Given the description of an element on the screen output the (x, y) to click on. 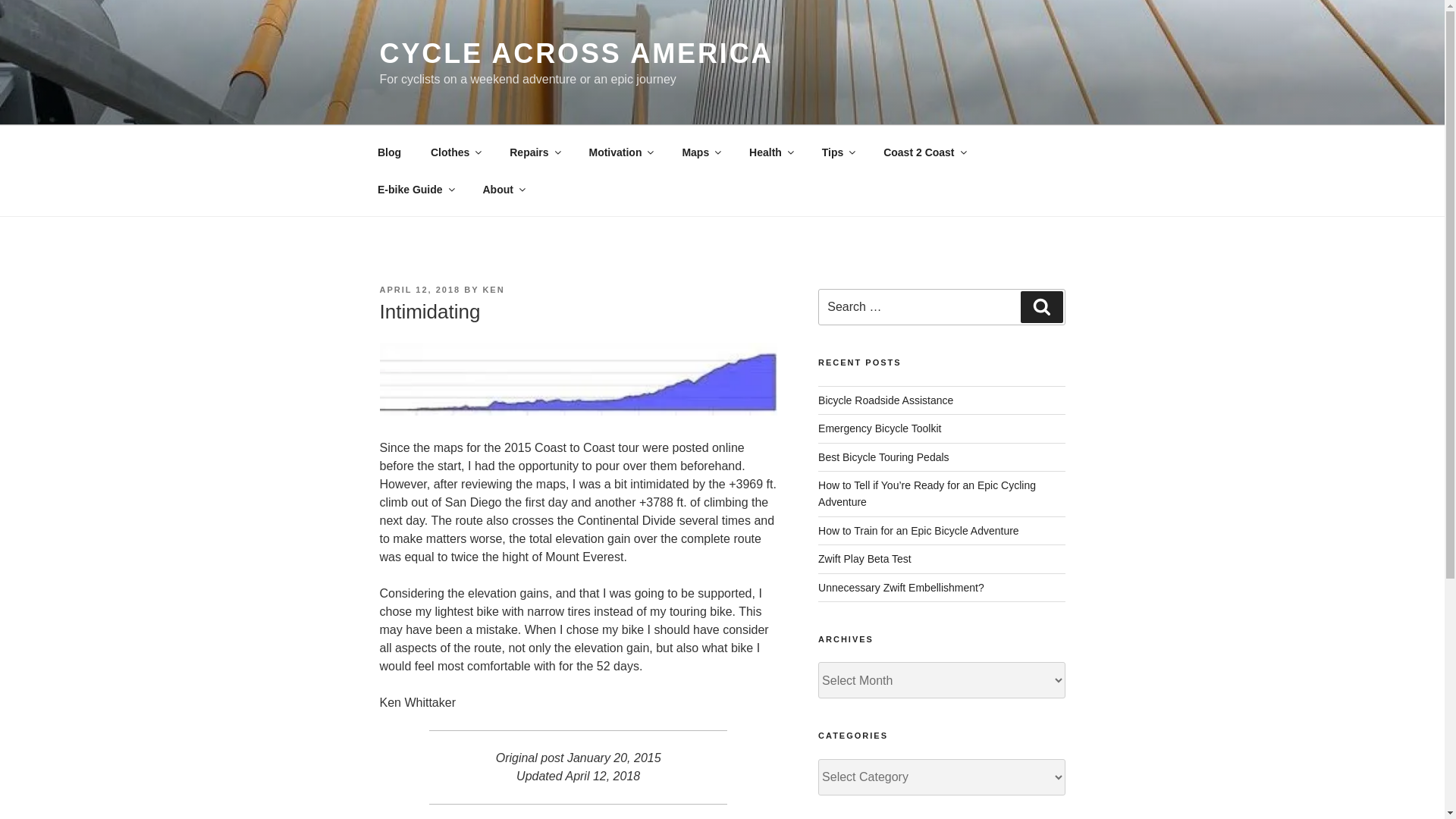
Repairs (534, 151)
CYCLE ACROSS AMERICA (575, 52)
Blog (388, 151)
Health (771, 151)
Clothes (454, 151)
Motivation (620, 151)
Maps (700, 151)
